Given the description of an element on the screen output the (x, y) to click on. 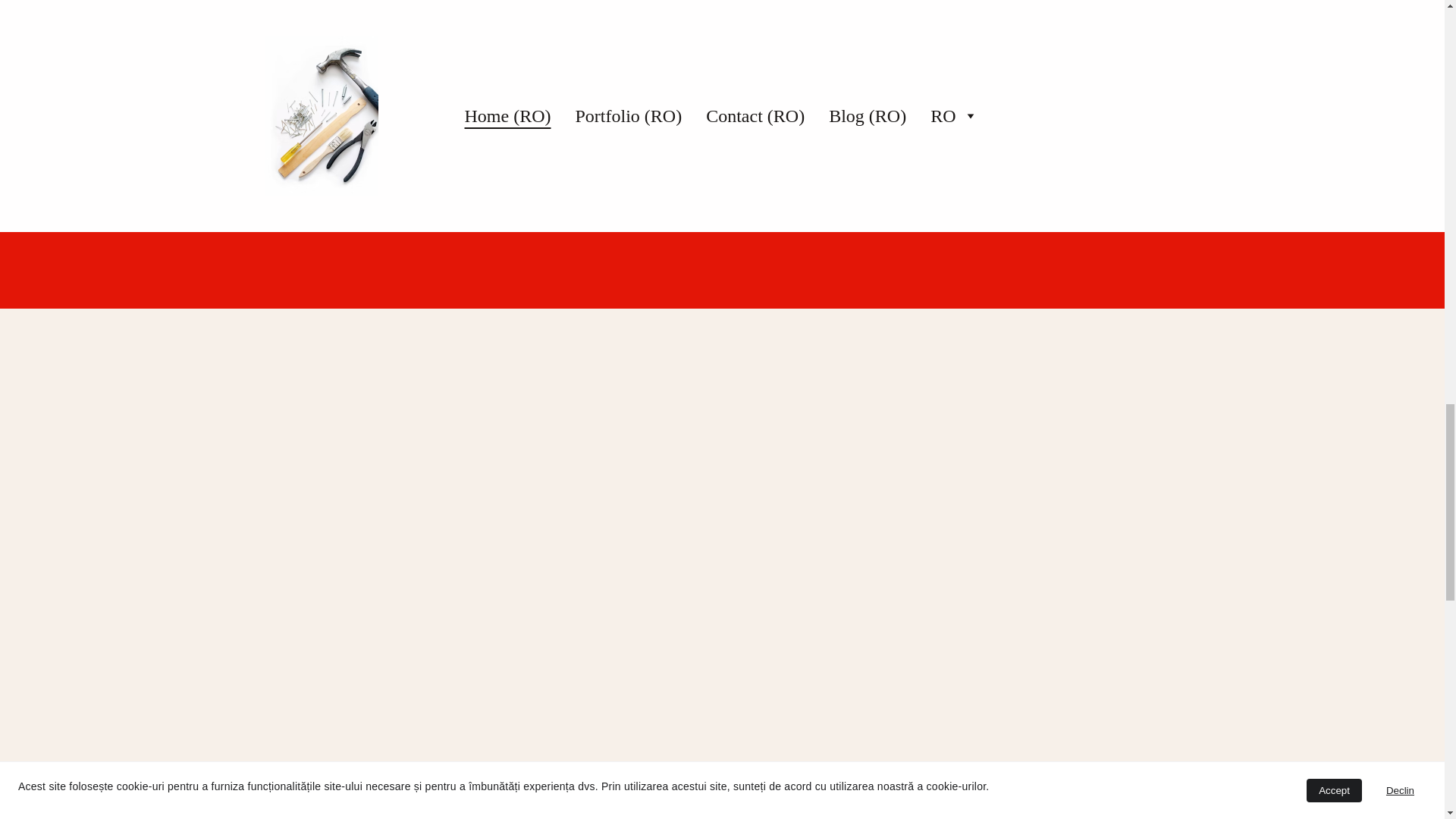
white and brown house near green tree during daytime (803, 89)
